Given the description of an element on the screen output the (x, y) to click on. 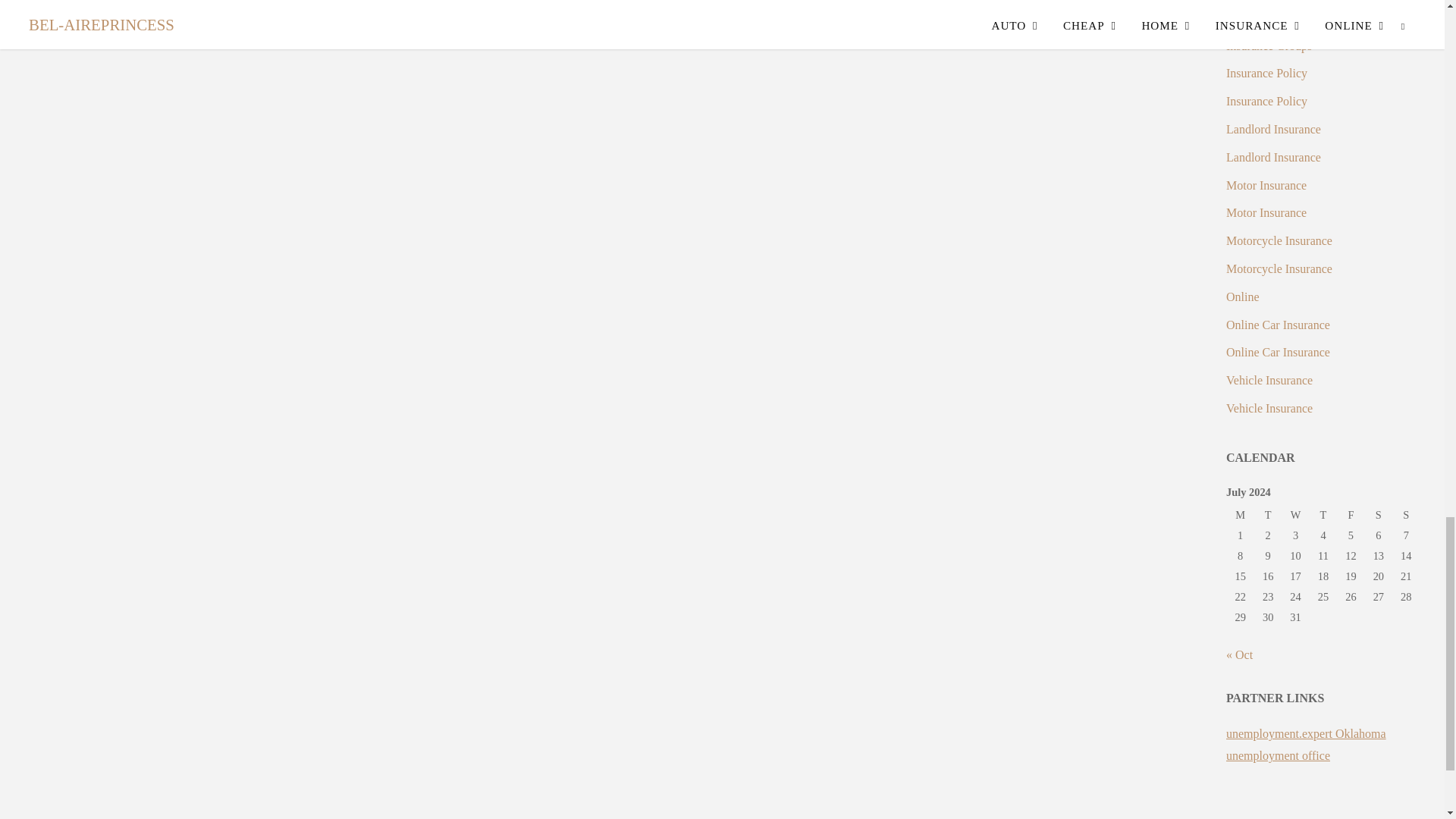
Saturday (1378, 515)
Tuesday (1267, 515)
Friday (1350, 515)
Sunday (1405, 515)
Monday (1240, 515)
Thursday (1322, 515)
Wednesday (1294, 515)
